Given the description of an element on the screen output the (x, y) to click on. 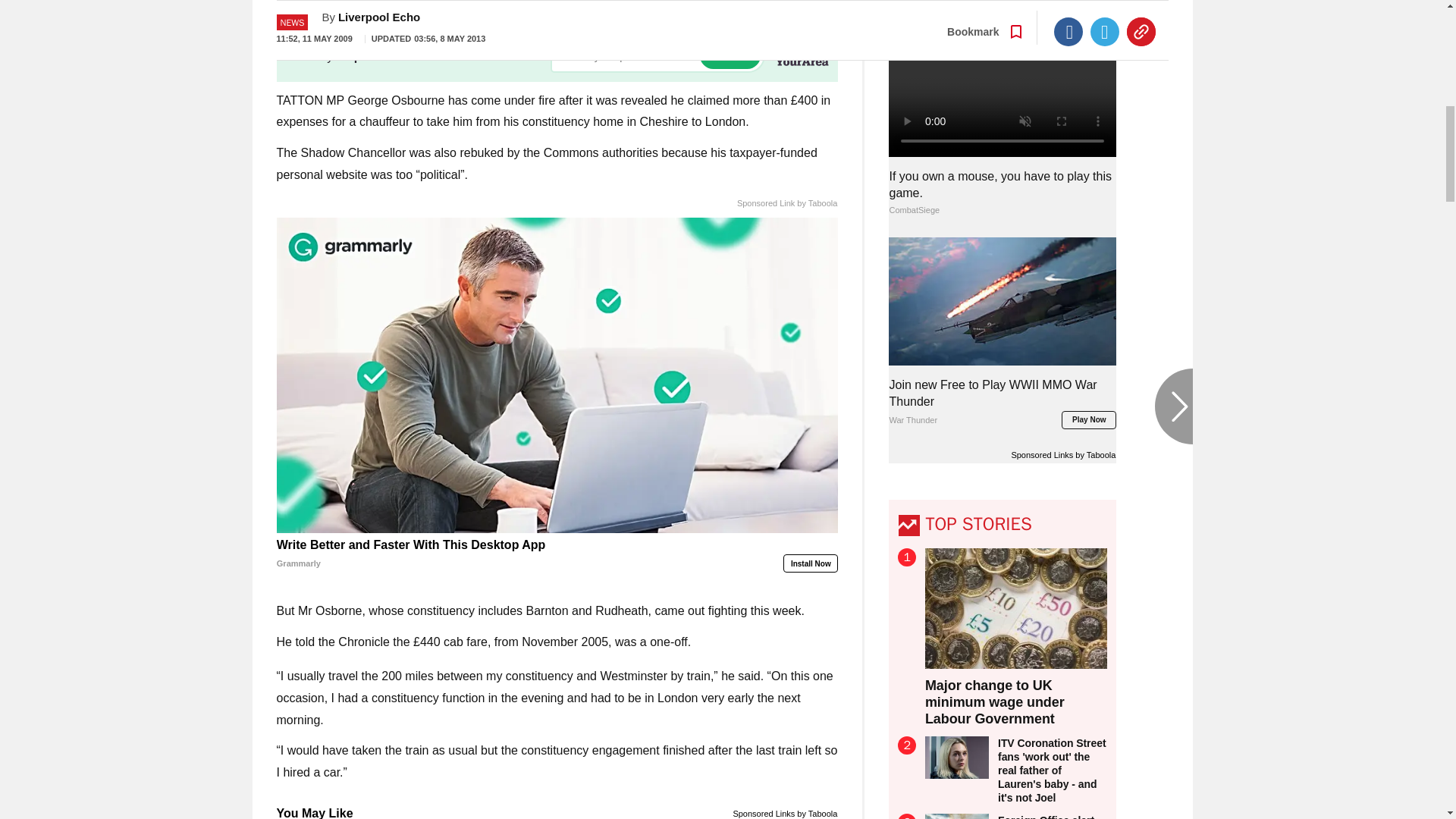
Go (730, 55)
Write Better and Faster With This Desktop App (557, 554)
